Given the description of an element on the screen output the (x, y) to click on. 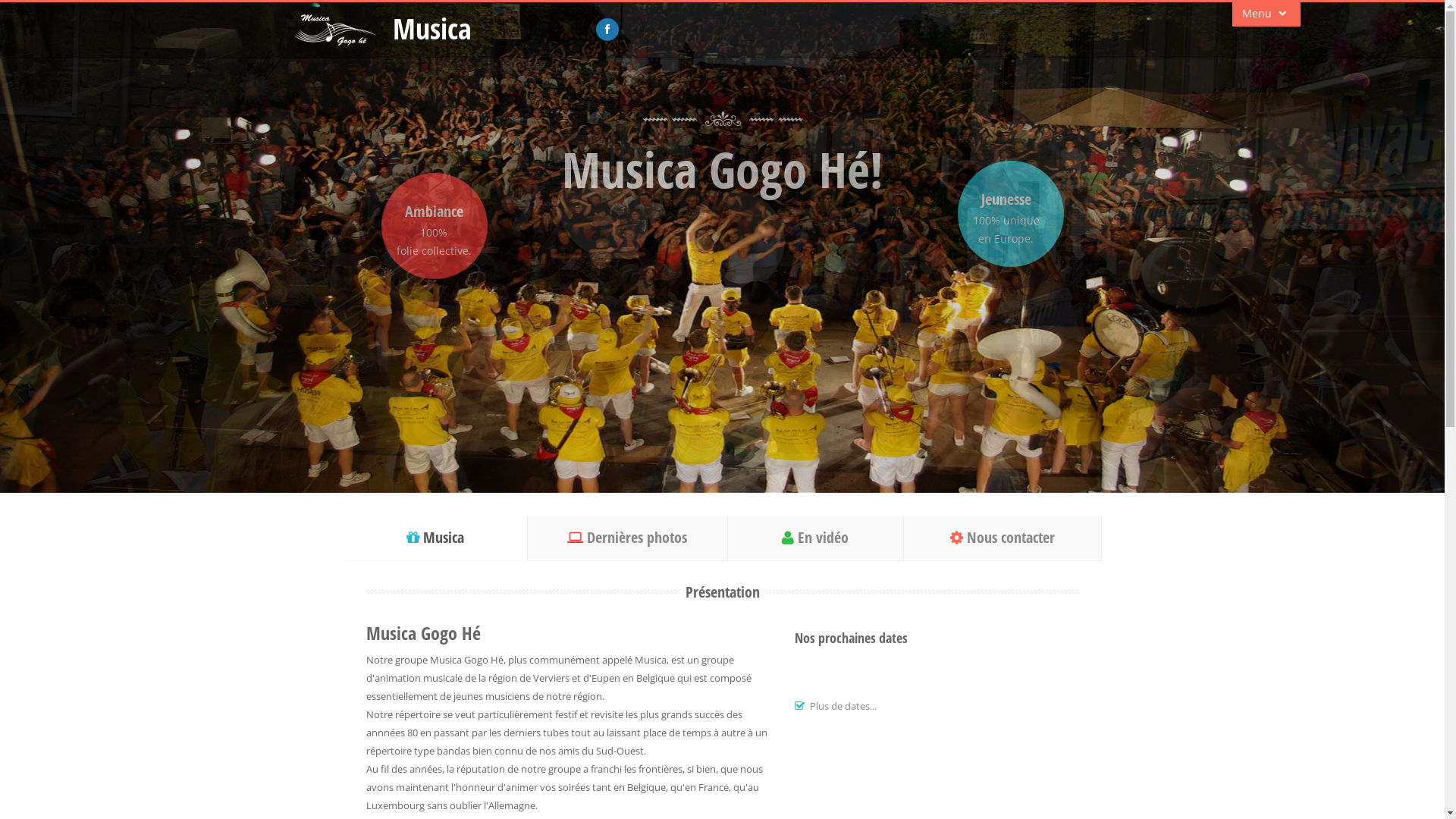
Nous contacter Element type: text (1002, 538)
Musica Element type: text (434, 537)
Menu Element type: text (1265, 13)
Musica Element type: text (431, 27)
Plus de dates... Element type: text (842, 705)
